Given the description of an element on the screen output the (x, y) to click on. 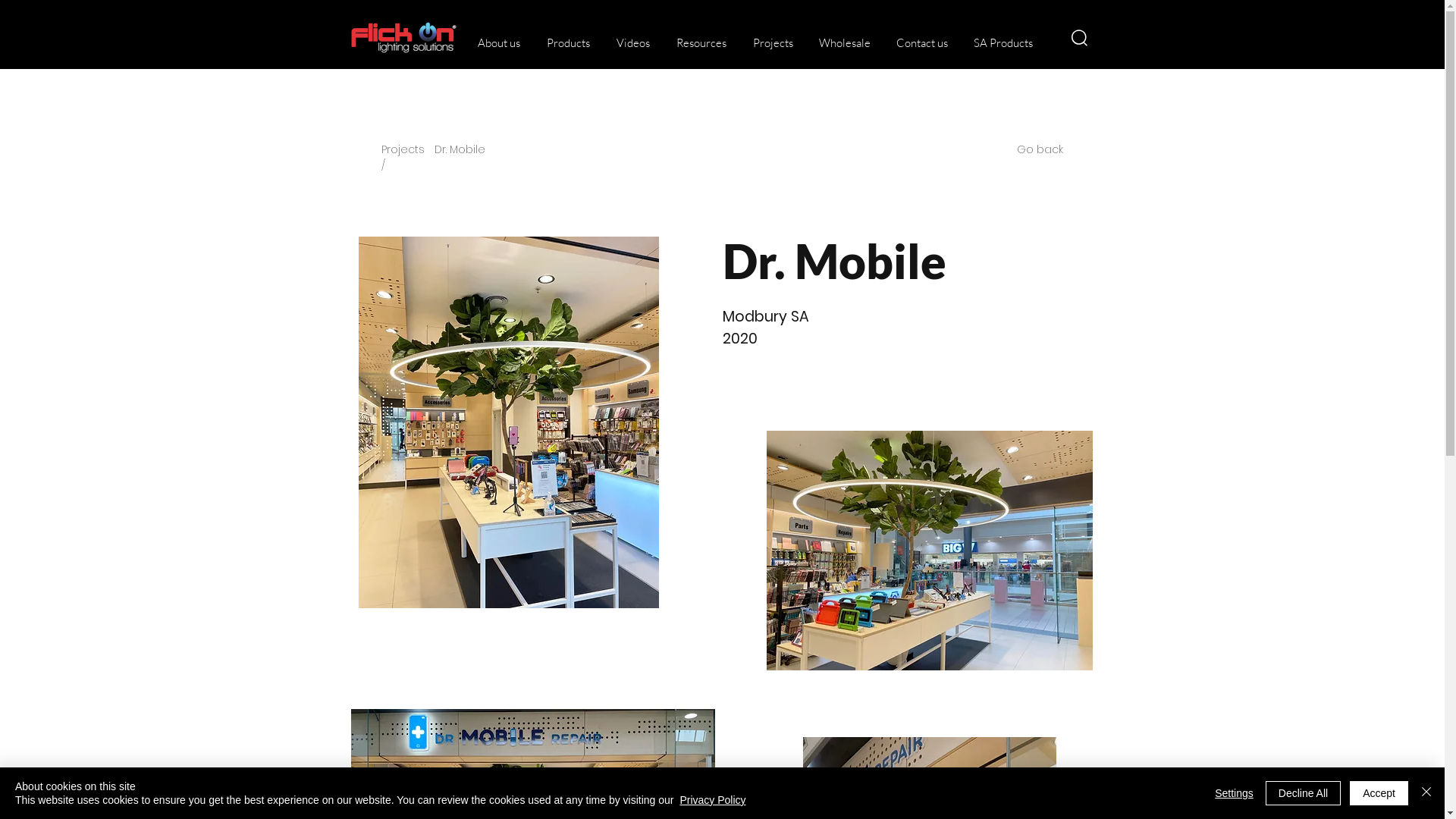
Projects Element type: text (770, 43)
Wholesale Element type: text (842, 43)
Accept Element type: text (1378, 793)
Dr. Mobile Element type: text (458, 148)
Contact us Element type: text (919, 43)
About us Element type: text (496, 43)
Videos Element type: text (630, 43)
Projects /  Element type: text (401, 156)
Go back Element type: text (1039, 148)
Privacy Policy Element type: text (712, 799)
Marker.io notification overlay Element type: hover (1140, 303)
SA Products Element type: text (1000, 43)
Resources Element type: text (699, 43)
Decline All Element type: text (1302, 793)
